Given the description of an element on the screen output the (x, y) to click on. 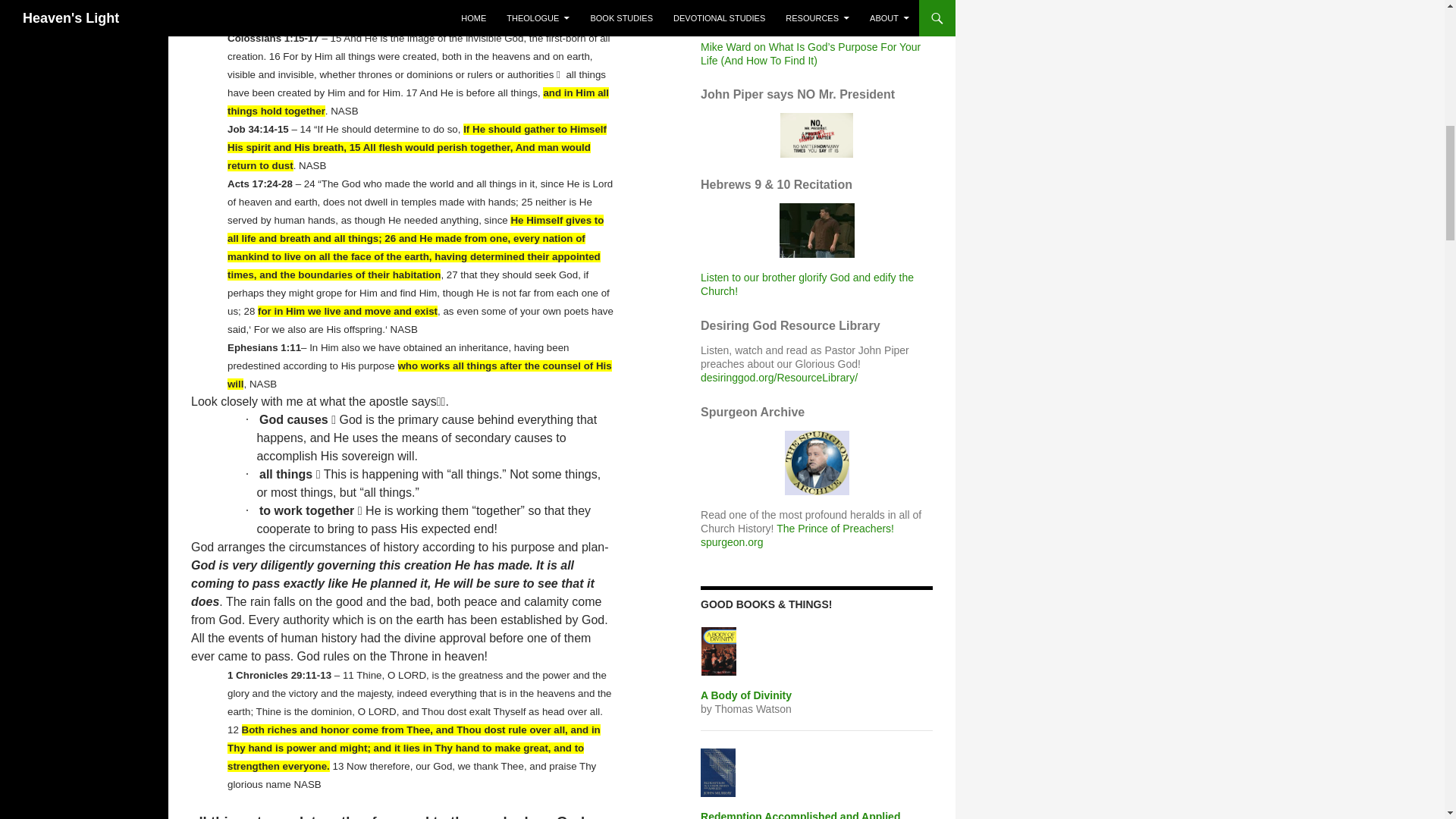
Pastor John Piper preaches about our Glorious God! (778, 377)
Charles Spurgeon Archive (731, 541)
Listen to our brother glorify God and edify the Church! (816, 229)
Listen to our brother glorify God and edify the Church! (807, 284)
Charles Spurgeon Archive (816, 462)
Charles Spurgeon Archive (834, 528)
